Given the description of an element on the screen output the (x, y) to click on. 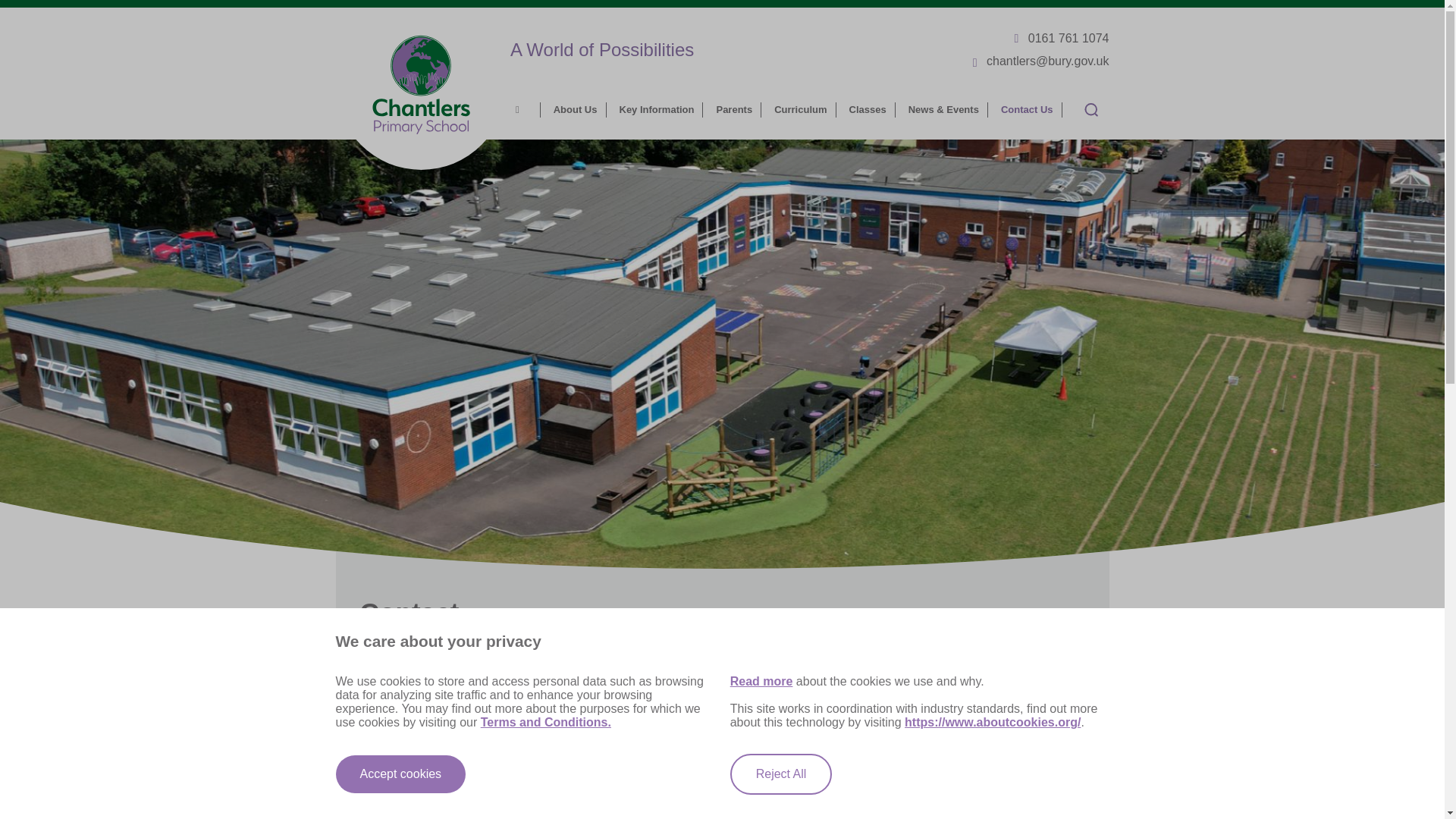
Terms and Conditions. (545, 721)
Cookie Policy (17, 800)
Accept cookies (399, 774)
Read more (761, 680)
Reject All (781, 773)
